Given the description of an element on the screen output the (x, y) to click on. 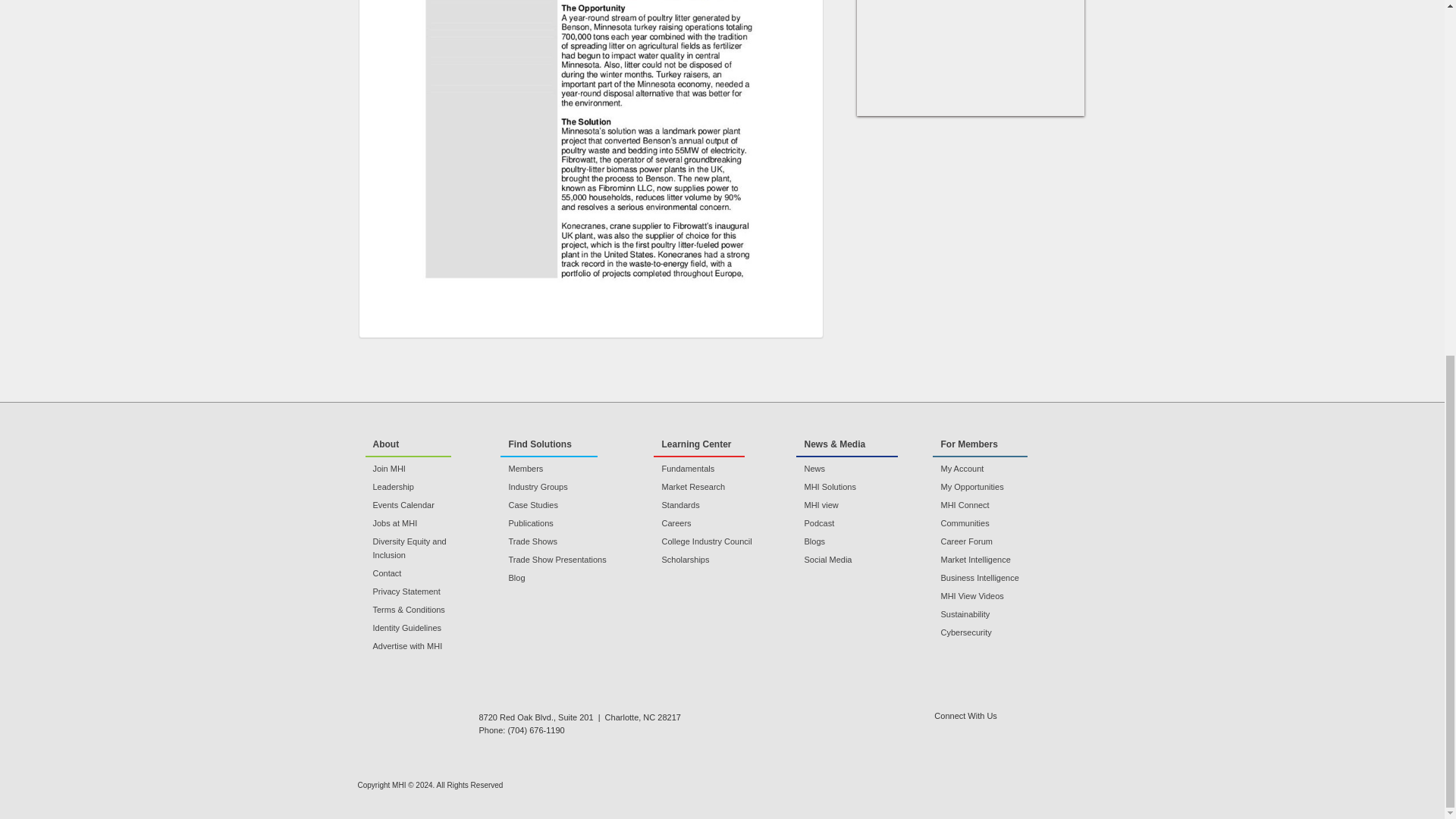
Case Studies (568, 504)
Advertise with MHI (424, 645)
Find Solutions (548, 445)
About (408, 445)
Trade Show Presentations (568, 559)
Blog (568, 577)
Privacy Statement (424, 591)
Market Research (715, 486)
Fundamentals (715, 468)
College Industry Council (715, 540)
Trade Shows (568, 540)
Podcast (855, 522)
Industry Groups (568, 486)
Read Our Blog (1038, 733)
Follow the MHI channel on YouTube (1000, 733)
